Given the description of an element on the screen output the (x, y) to click on. 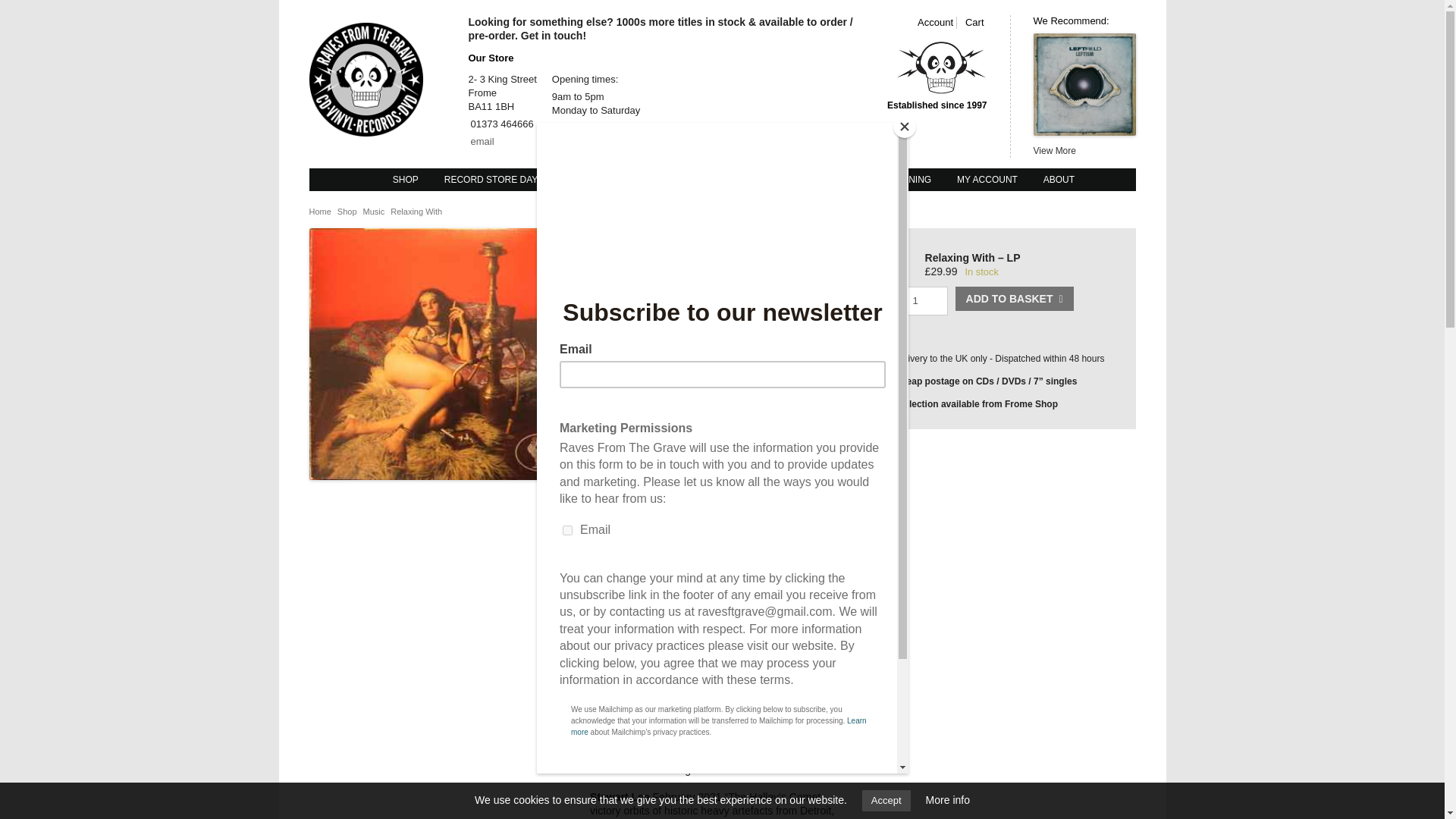
email (481, 141)
SHOP (406, 179)
Home (319, 211)
SALE (660, 179)
MY ACCOUNT (986, 179)
Shop (346, 211)
ADD TO BASKET (1014, 298)
1 (921, 300)
R-10172655-1493754062-9108 (437, 353)
ABOUT (1058, 179)
on (899, 264)
Leftism (1083, 94)
NEWS (712, 179)
RECORD STORE DAY (491, 179)
THE TEAM (774, 179)
